Given the description of an element on the screen output the (x, y) to click on. 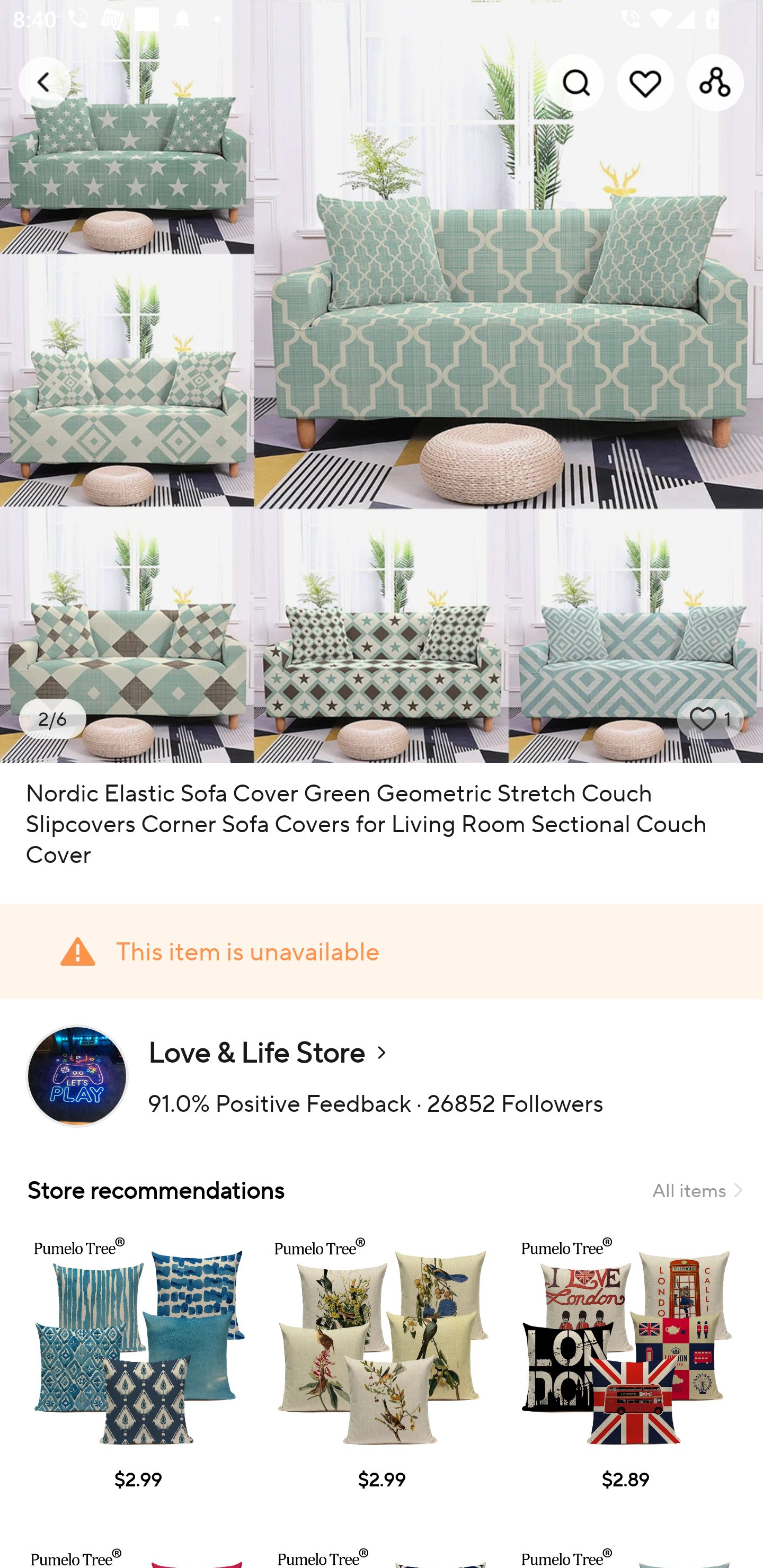
Navigate up (44, 82)
wish state 1 (710, 718)
All items (697, 1190)
$2.99 (137, 1377)
$2.99 (381, 1377)
$2.89 (625, 1377)
